Given the description of an element on the screen output the (x, y) to click on. 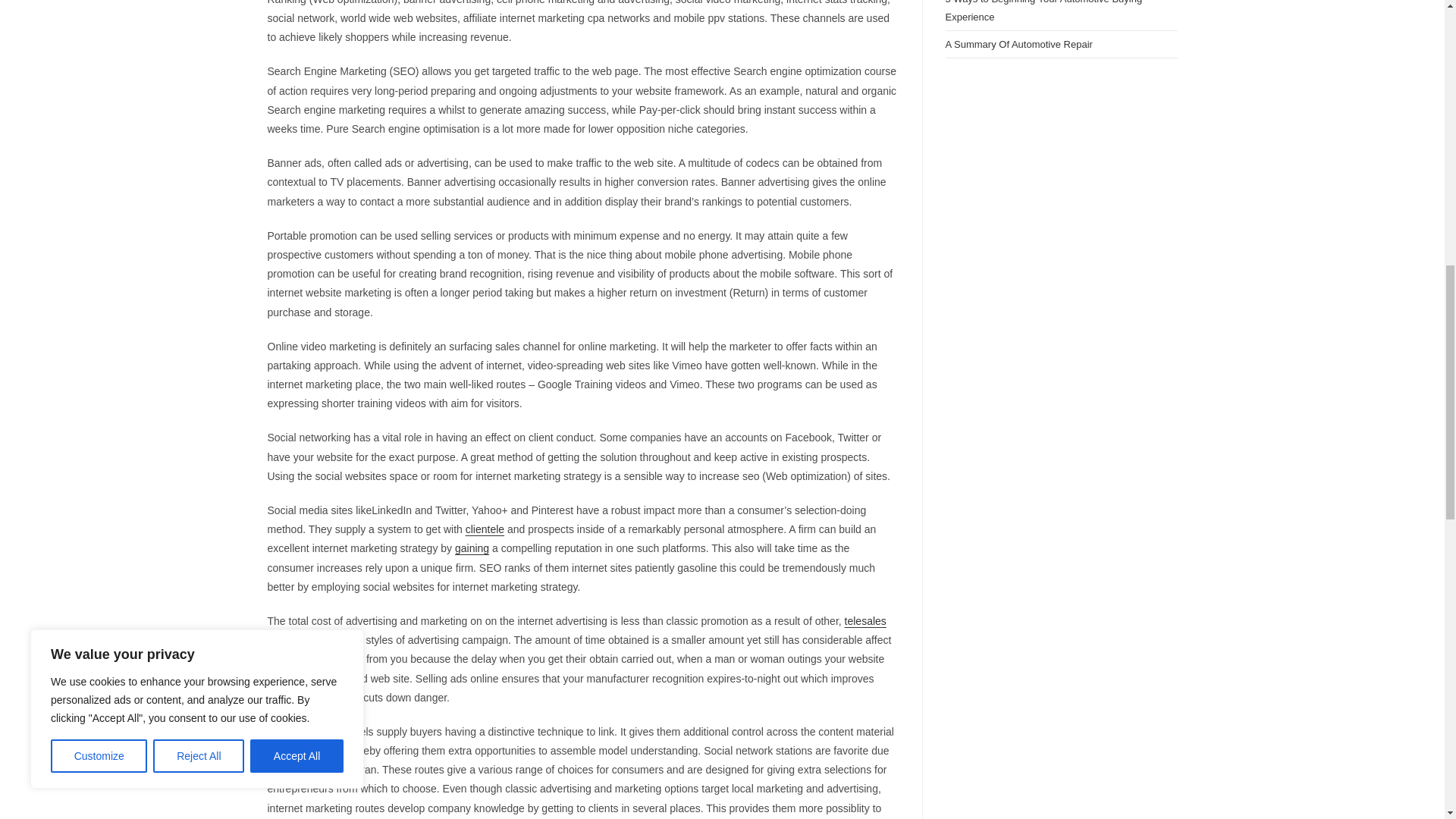
telesales (865, 621)
gaining (471, 548)
clientele (484, 529)
